Given the description of an element on the screen output the (x, y) to click on. 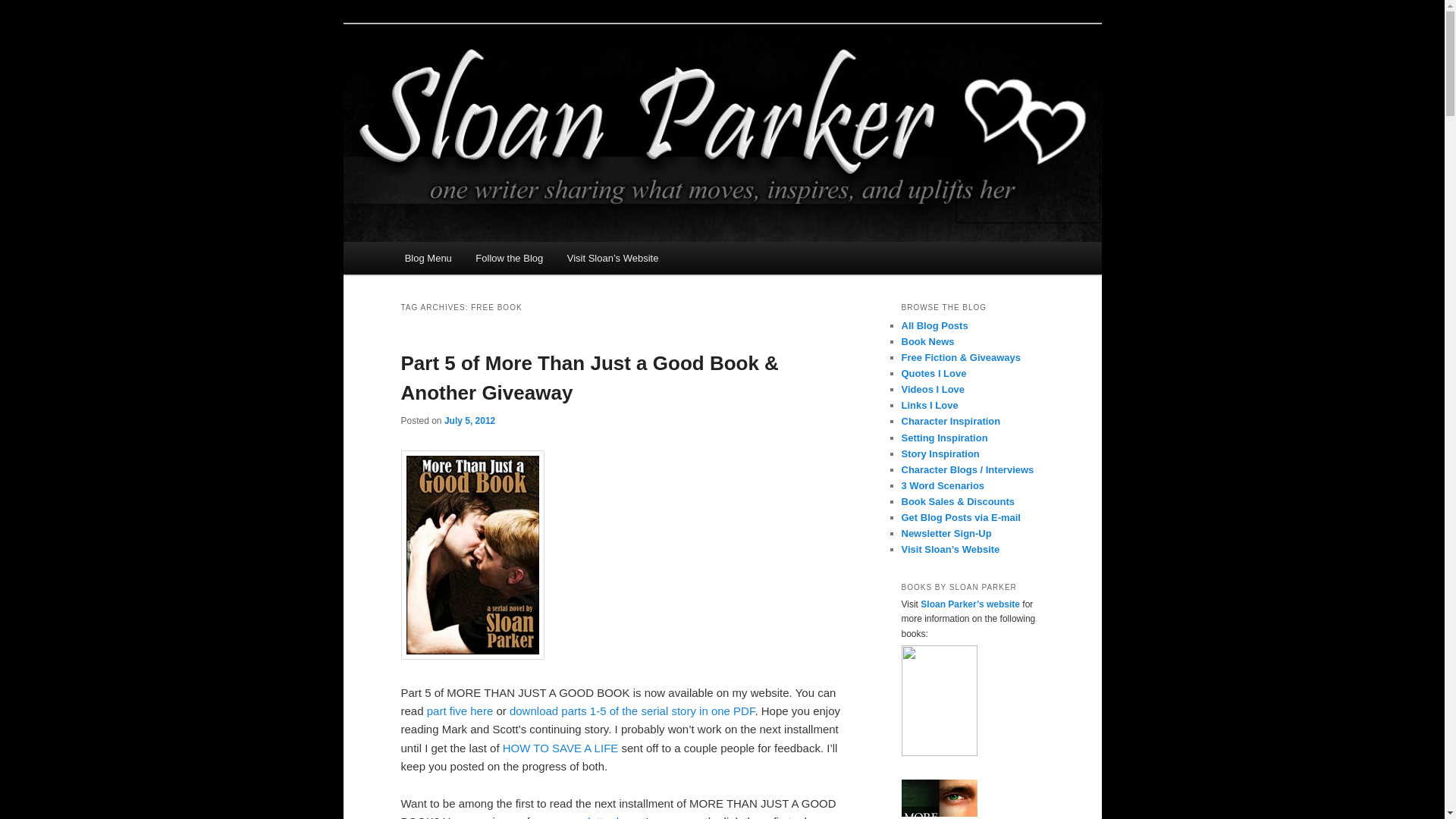
PDF (632, 710)
July 5, 2012 (469, 420)
Part 5 (471, 655)
9:13 AM (469, 420)
part five here (459, 710)
newsletter here (599, 816)
HOW TO SAVE A LIFE (560, 748)
download parts 1-5 of the serial story in one PDF (632, 710)
Sloan Parker Blog (497, 78)
